Given the description of an element on the screen output the (x, y) to click on. 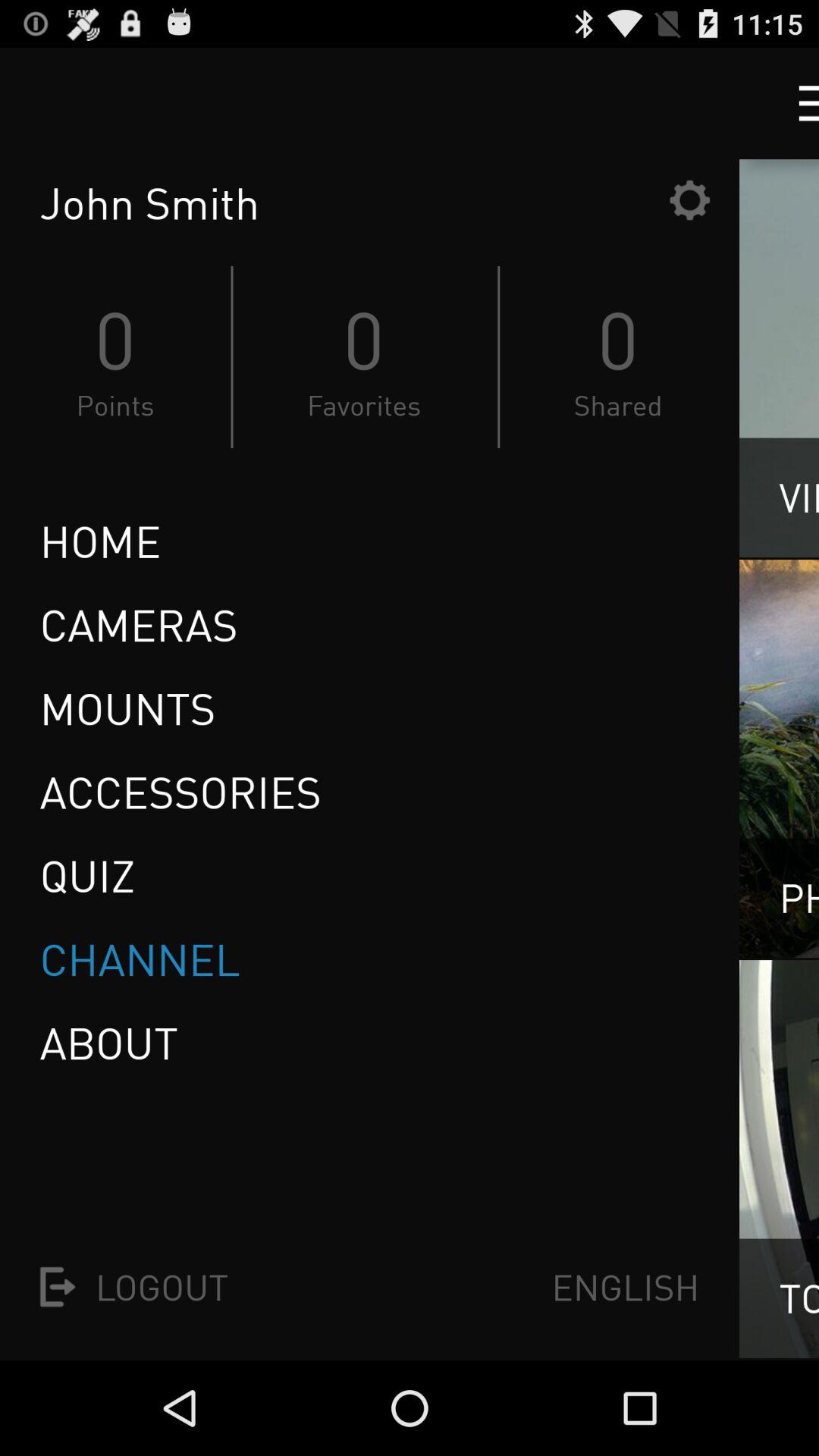
open settings (689, 199)
